Given the description of an element on the screen output the (x, y) to click on. 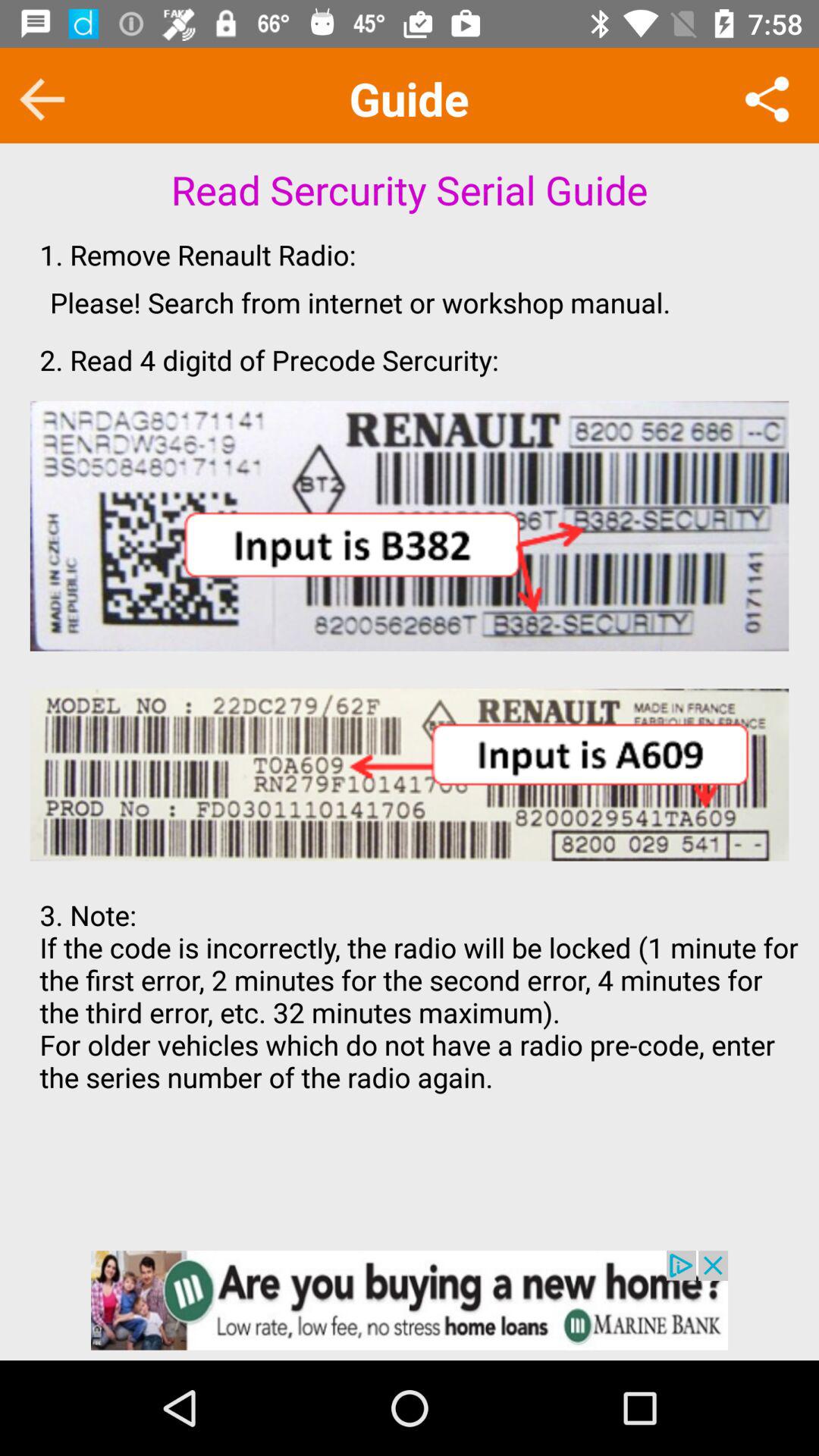
advertisement banner (409, 1300)
